Given the description of an element on the screen output the (x, y) to click on. 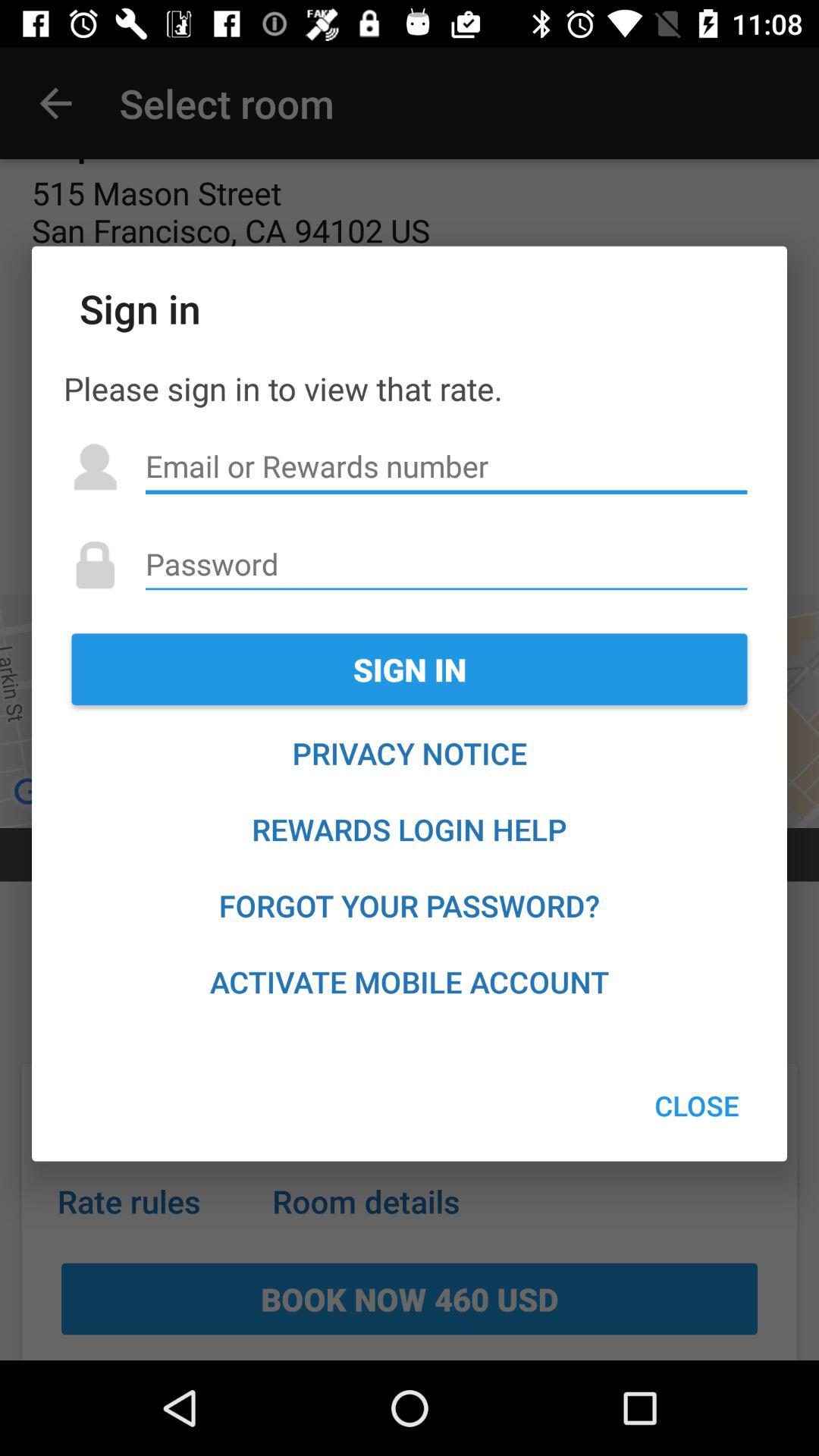
choose item below the please sign in (446, 466)
